Given the description of an element on the screen output the (x, y) to click on. 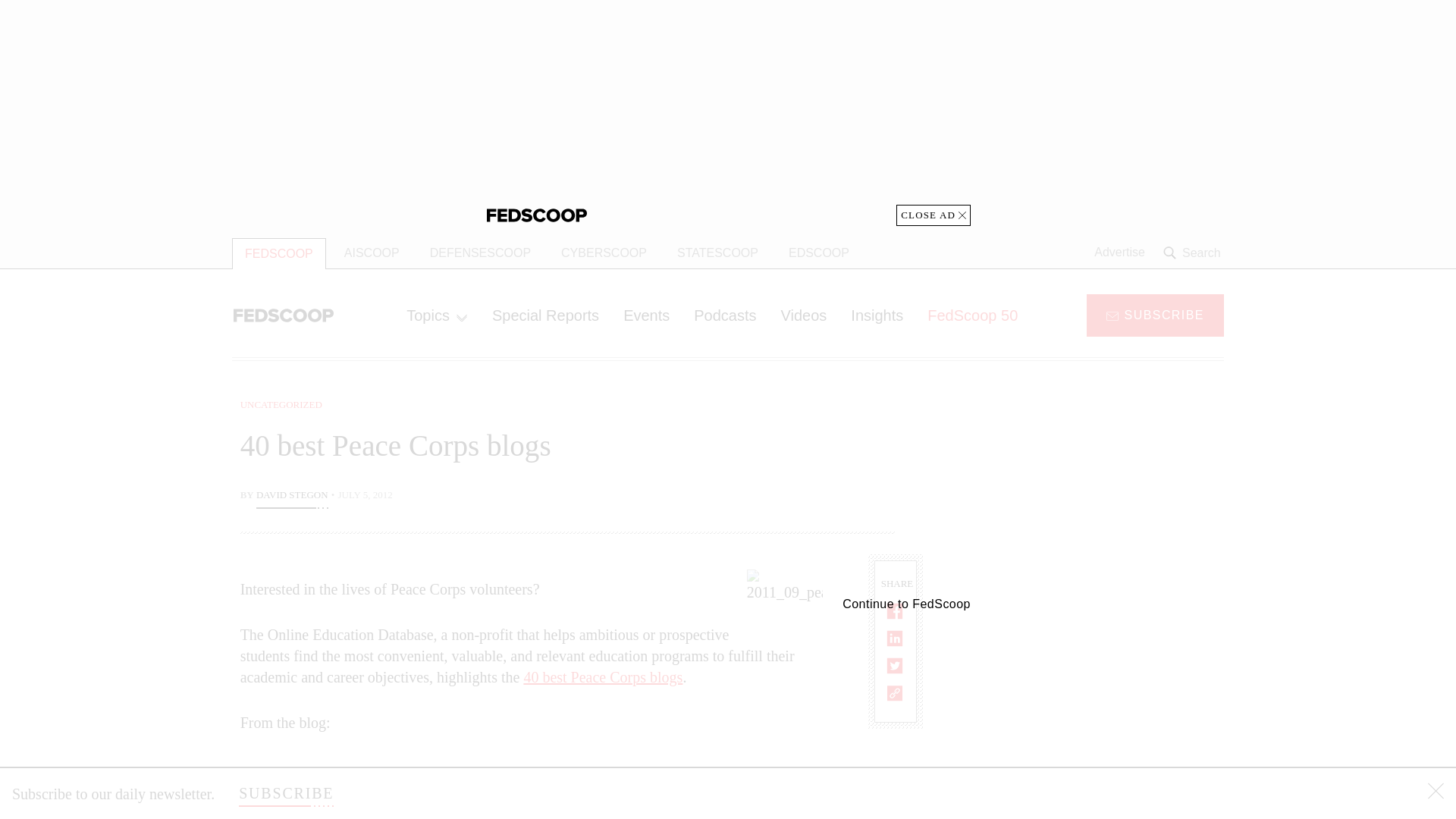
40 best Peace Corps blogs (602, 677)
David Stegon (292, 496)
Special Reports (545, 315)
Topics (437, 315)
FedScoop 50 (972, 315)
UNCATEGORIZED (280, 404)
3rd party ad content (727, 112)
Videos (804, 315)
Podcasts (724, 315)
